Given the description of an element on the screen output the (x, y) to click on. 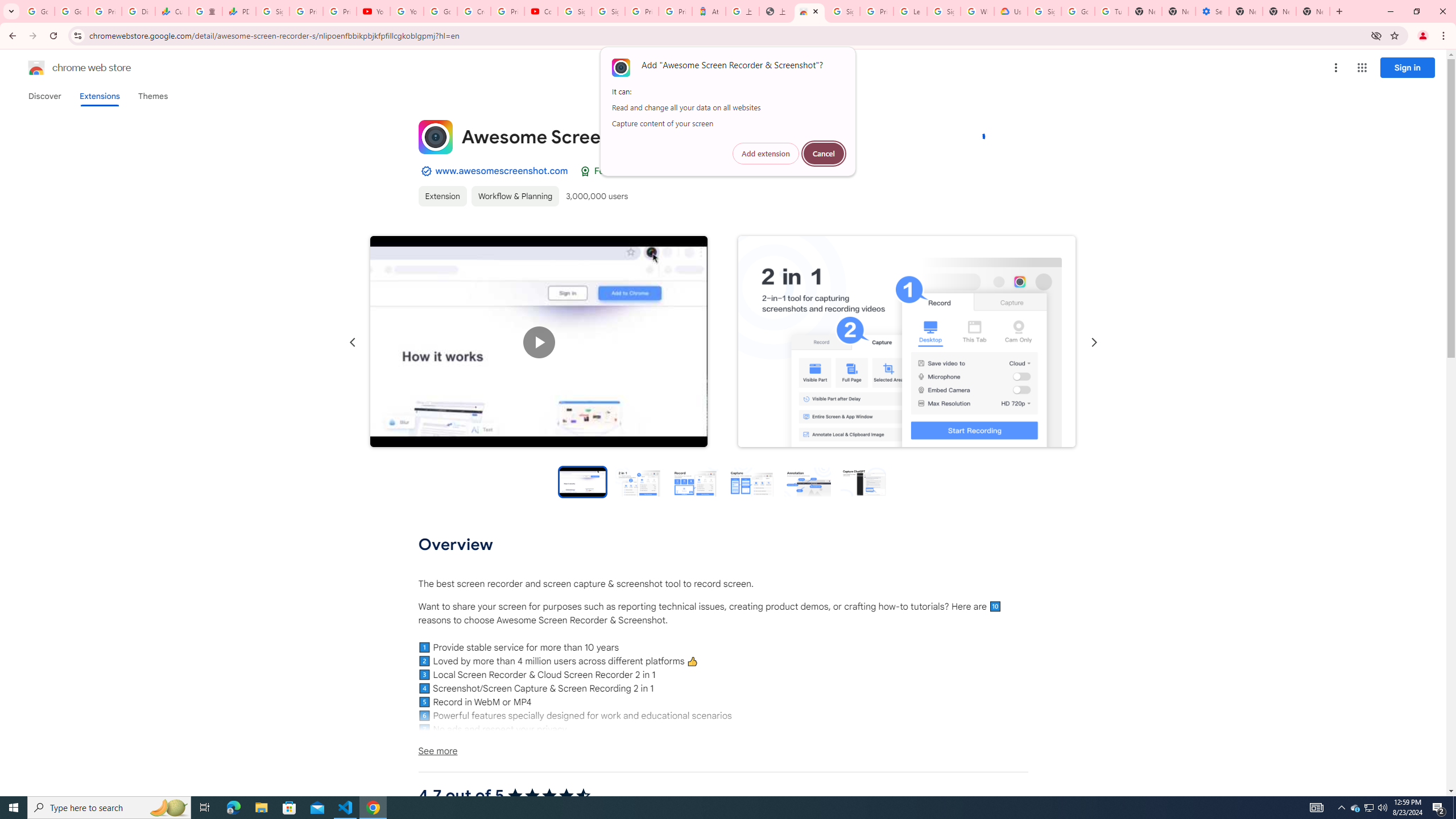
Chrome Web Store logo (36, 67)
Show desktop (1454, 807)
Turn cookies on or off - Computer - Google Account Help (1111, 11)
Sign in - Google Accounts (1043, 11)
Previous slide (352, 342)
